Given the description of an element on the screen output the (x, y) to click on. 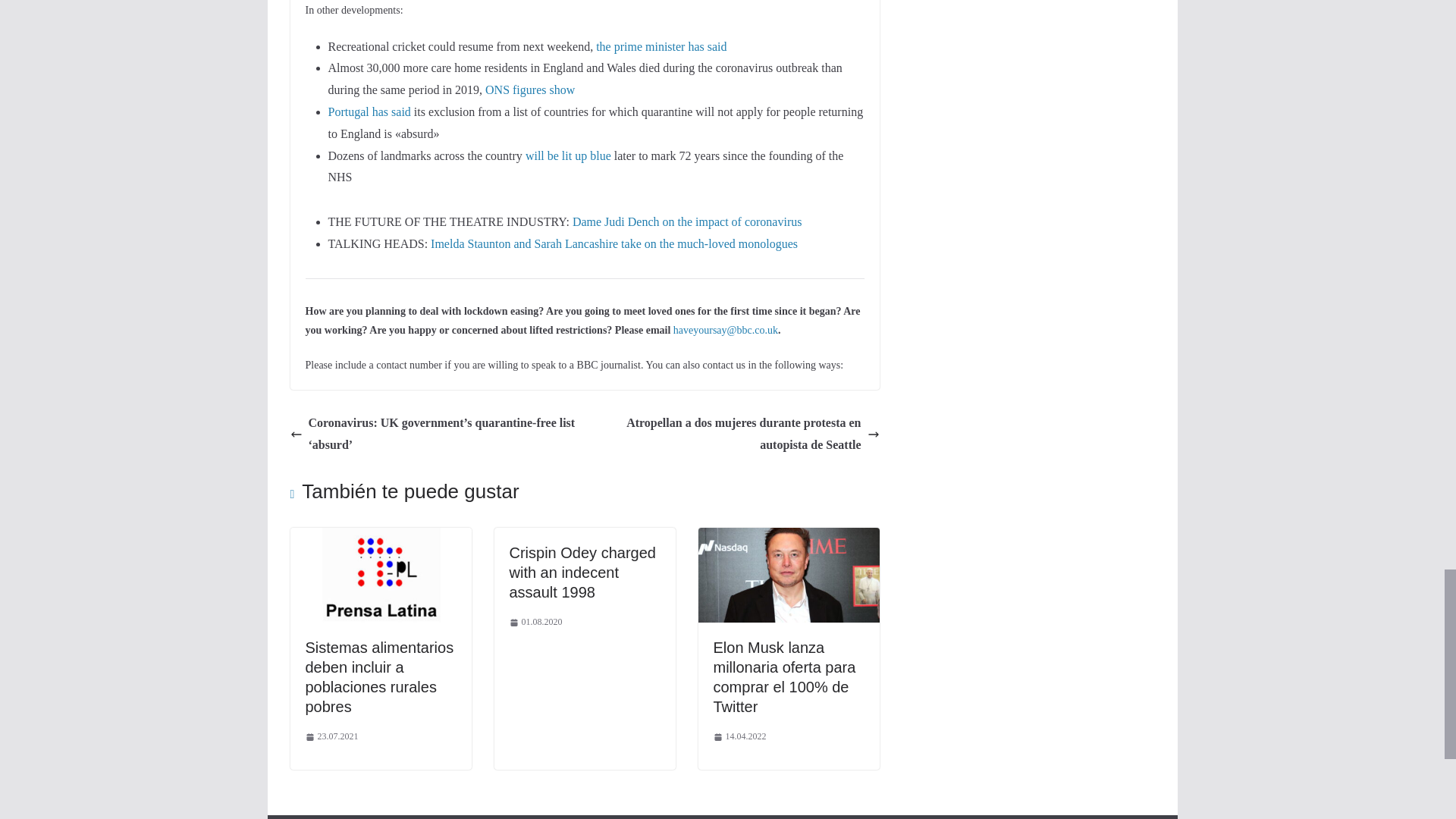
8:23 am (739, 736)
01.08.2020 (535, 622)
8:16 pm (331, 736)
23.07.2021 (331, 736)
1:31 am (535, 622)
